Given the description of an element on the screen output the (x, y) to click on. 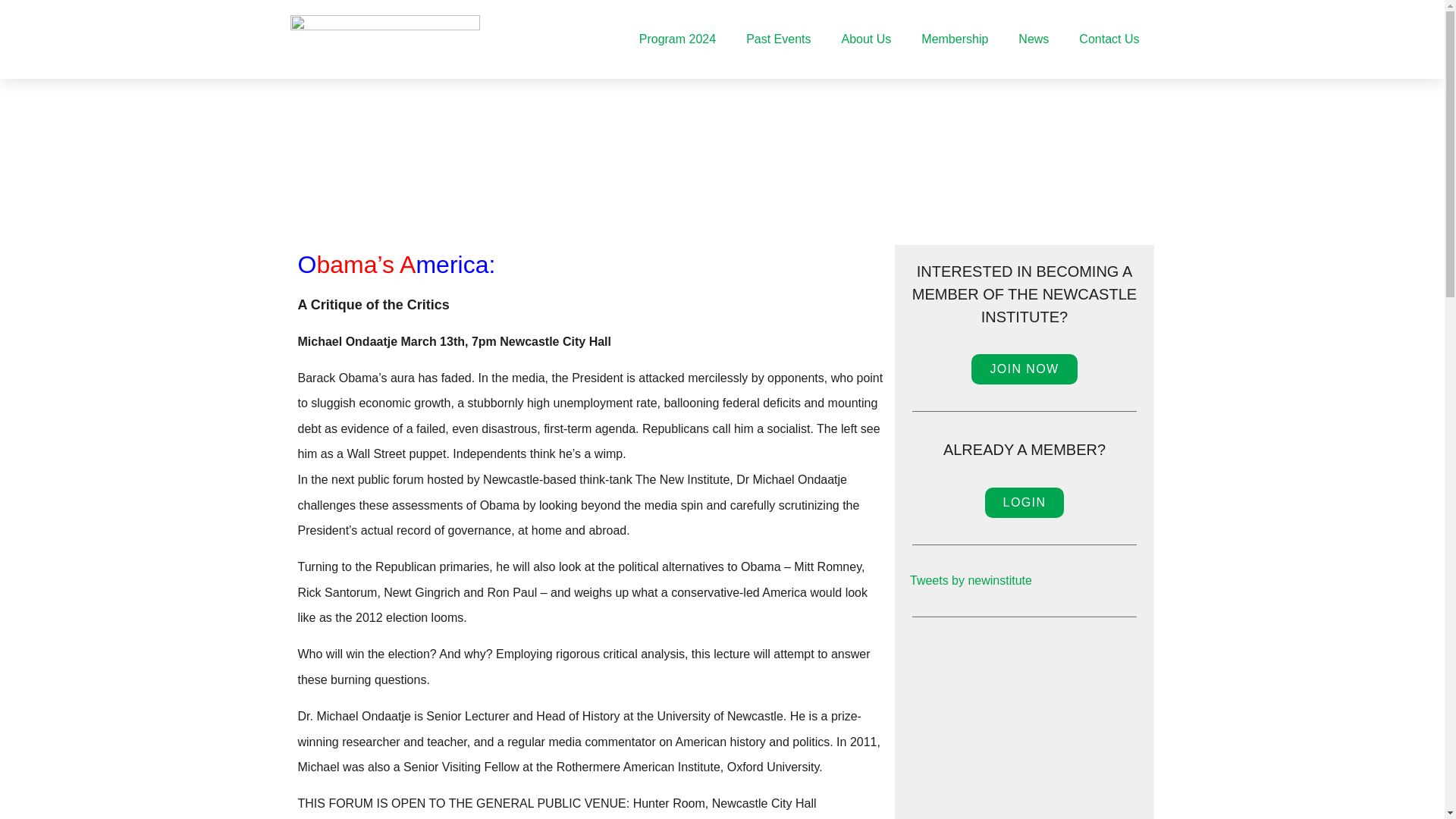
Program 2024 (677, 38)
Contact Us (1109, 38)
JOIN NOW (1024, 368)
About Us (867, 38)
Past Events (777, 38)
LOGIN (1024, 502)
Tweets by newinstitute (971, 580)
Membership (954, 38)
News (1033, 38)
